Given the description of an element on the screen output the (x, y) to click on. 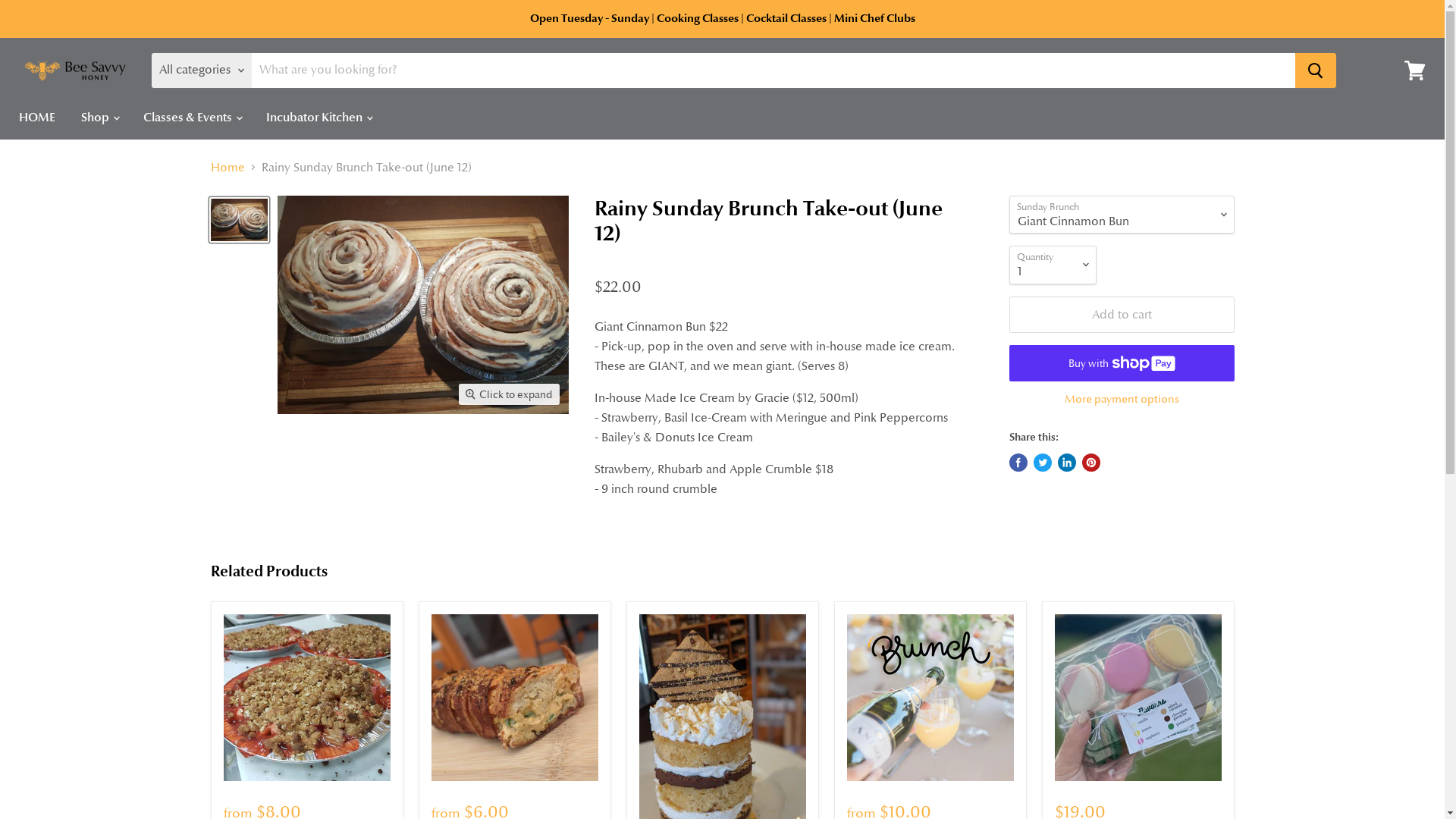
Classes & Events Element type: text (191, 117)
Share on Facebook Element type: text (1017, 462)
HOME Element type: text (36, 117)
Home Element type: text (227, 167)
Incubator Kitchen Element type: text (318, 117)
Share on LinkedIn Element type: text (1066, 462)
Shop Element type: text (98, 117)
Pin on Pinterest Element type: text (1090, 462)
Add to cart Element type: text (1120, 314)
More payment options Element type: text (1120, 398)
Click to expand Element type: text (508, 393)
Tweet on Twitter Element type: text (1041, 462)
View cart Element type: text (1414, 70)
